Given the description of an element on the screen output the (x, y) to click on. 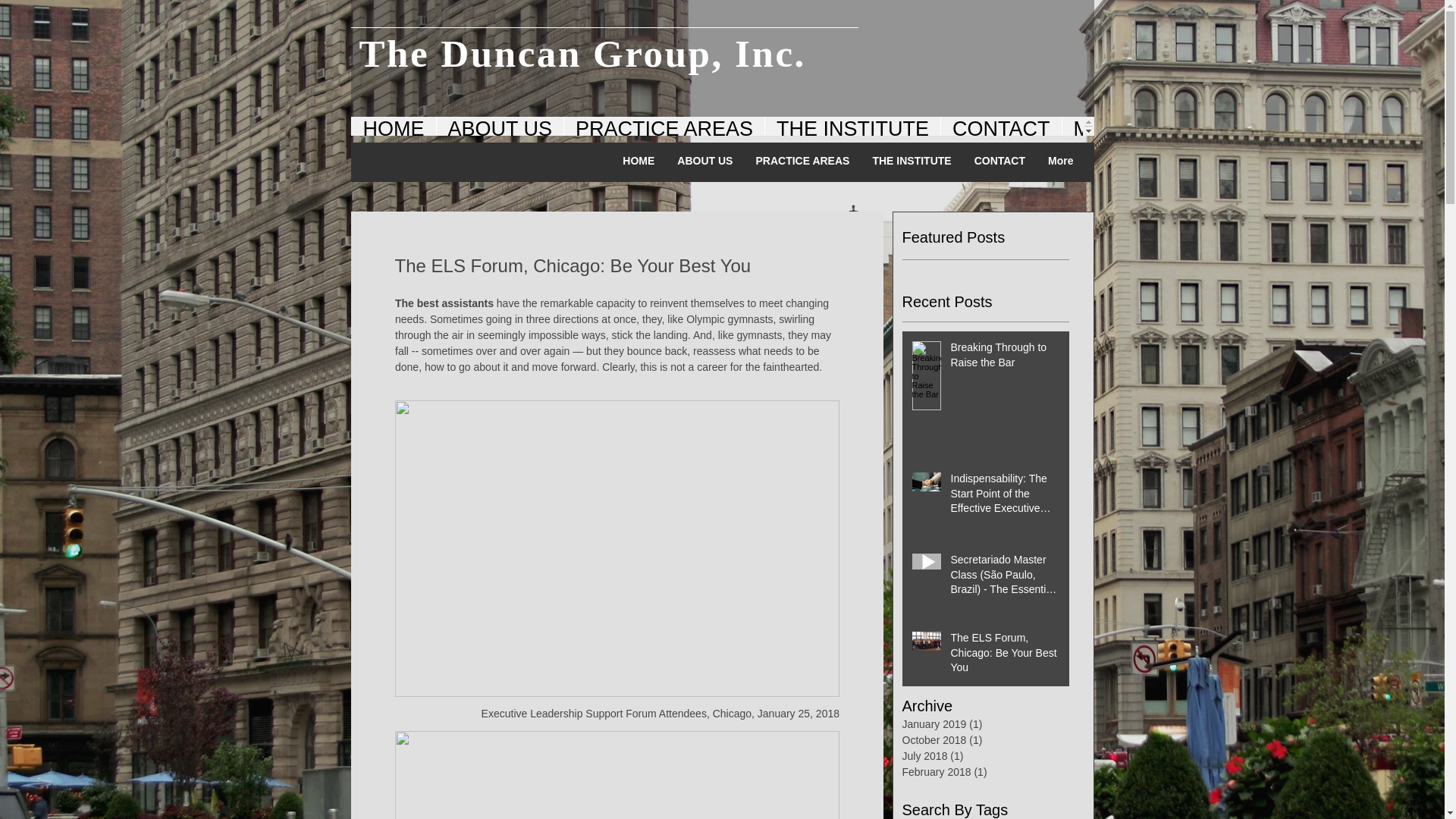
PRACTICE AREAS (802, 161)
HOME (638, 161)
CONTACT (1000, 126)
PRACTICE AREAS (663, 126)
THE INSTITUTE (911, 161)
HOME (392, 126)
CONTACT (999, 161)
THE INSTITUTE (852, 126)
